Given the description of an element on the screen output the (x, y) to click on. 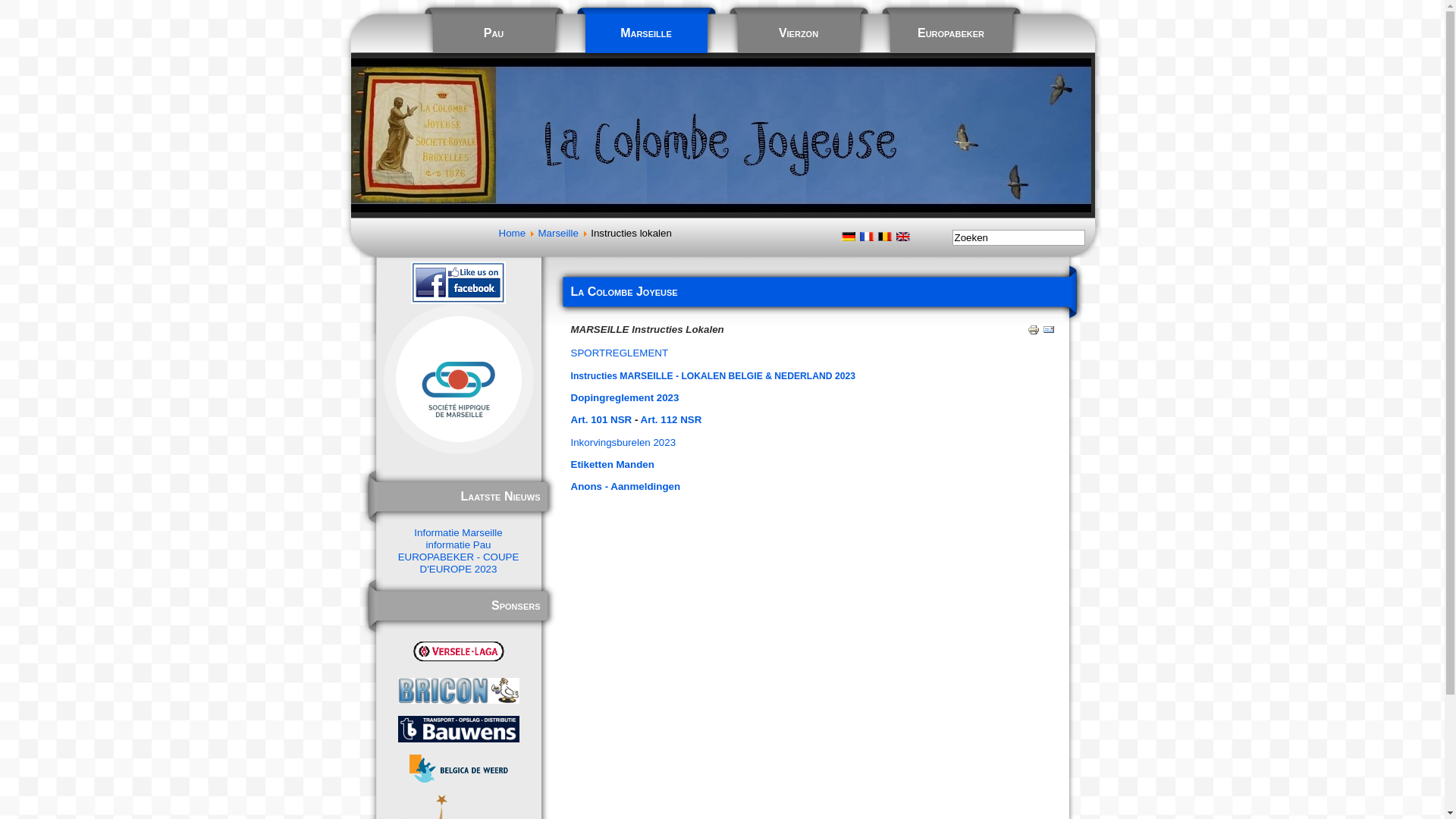
Pau Element type: text (493, 29)
EUROPABEKER - COUPE D'EUROPE 2023 Element type: text (458, 562)
Inkorvingsburelen 2023 Element type: text (622, 442)
Marseille Element type: text (557, 232)
Art. 101 NSR Element type: text (600, 419)
English Element type: hover (902, 236)
Dopingreglement 2023 Element type: text (624, 397)
Europabeker Element type: text (951, 29)
Marseille Element type: text (646, 29)
Etiketten Manden Element type: text (611, 464)
Home Element type: text (512, 232)
Art. 112 NSR Element type: text (671, 419)
Instructies MARSEILLE - LOKALEN BELGIE & NEDERLAND 2023 Element type: text (712, 375)
Anons - Aanmeldingen Element type: text (625, 486)
Deutsch Element type: hover (847, 236)
informatie Pau Element type: text (458, 544)
Nederlands Element type: hover (883, 236)
SPORTREGLEMENT Element type: text (619, 352)
Vierzon Element type: text (797, 29)
E-mail Element type: hover (1047, 332)
Informatie Marseille Element type: text (458, 532)
Afdrukken Element type: hover (1032, 332)
